Given the description of an element on the screen output the (x, y) to click on. 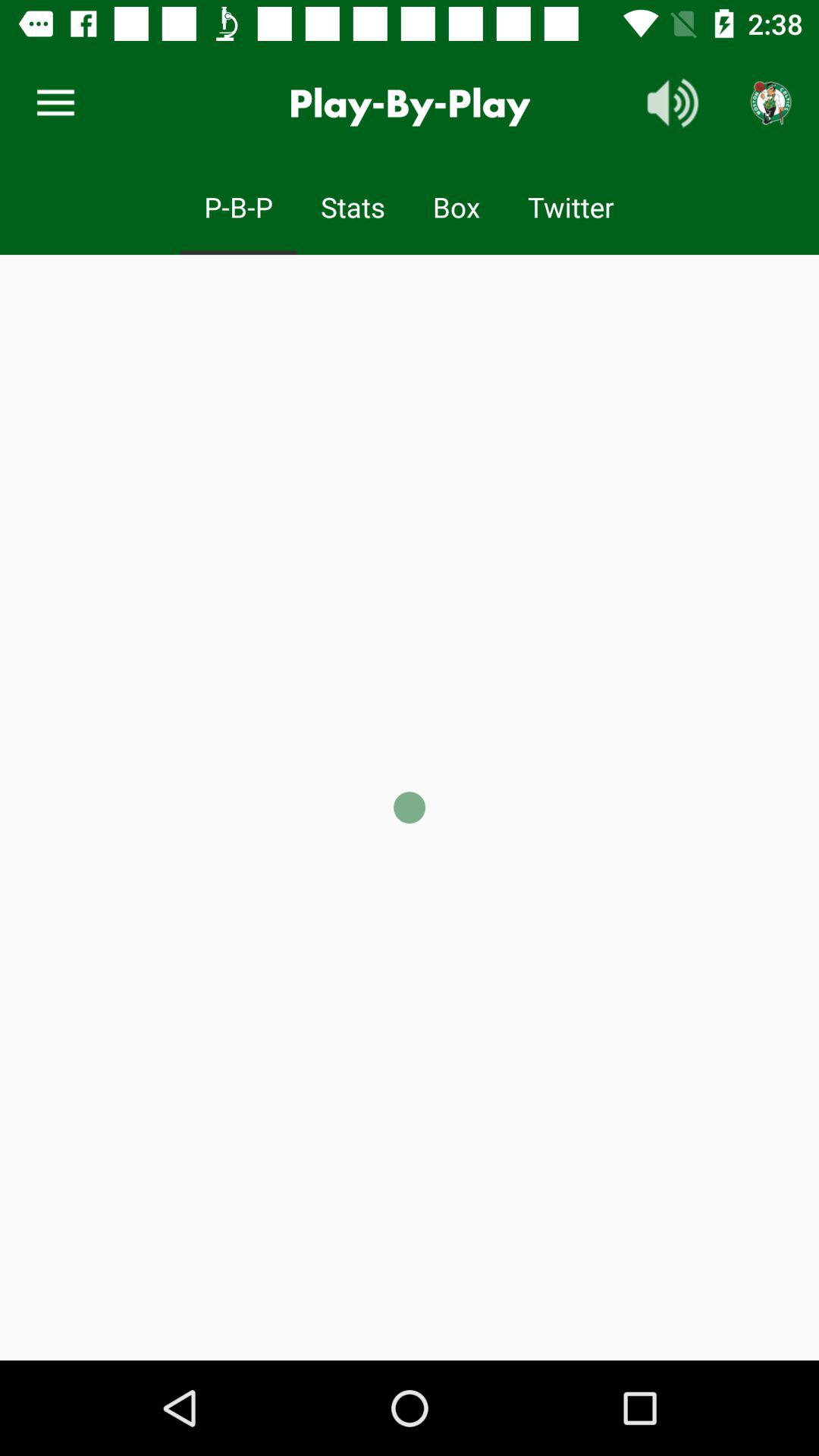
turn on item next to the play-by-play icon (55, 103)
